Given the description of an element on the screen output the (x, y) to click on. 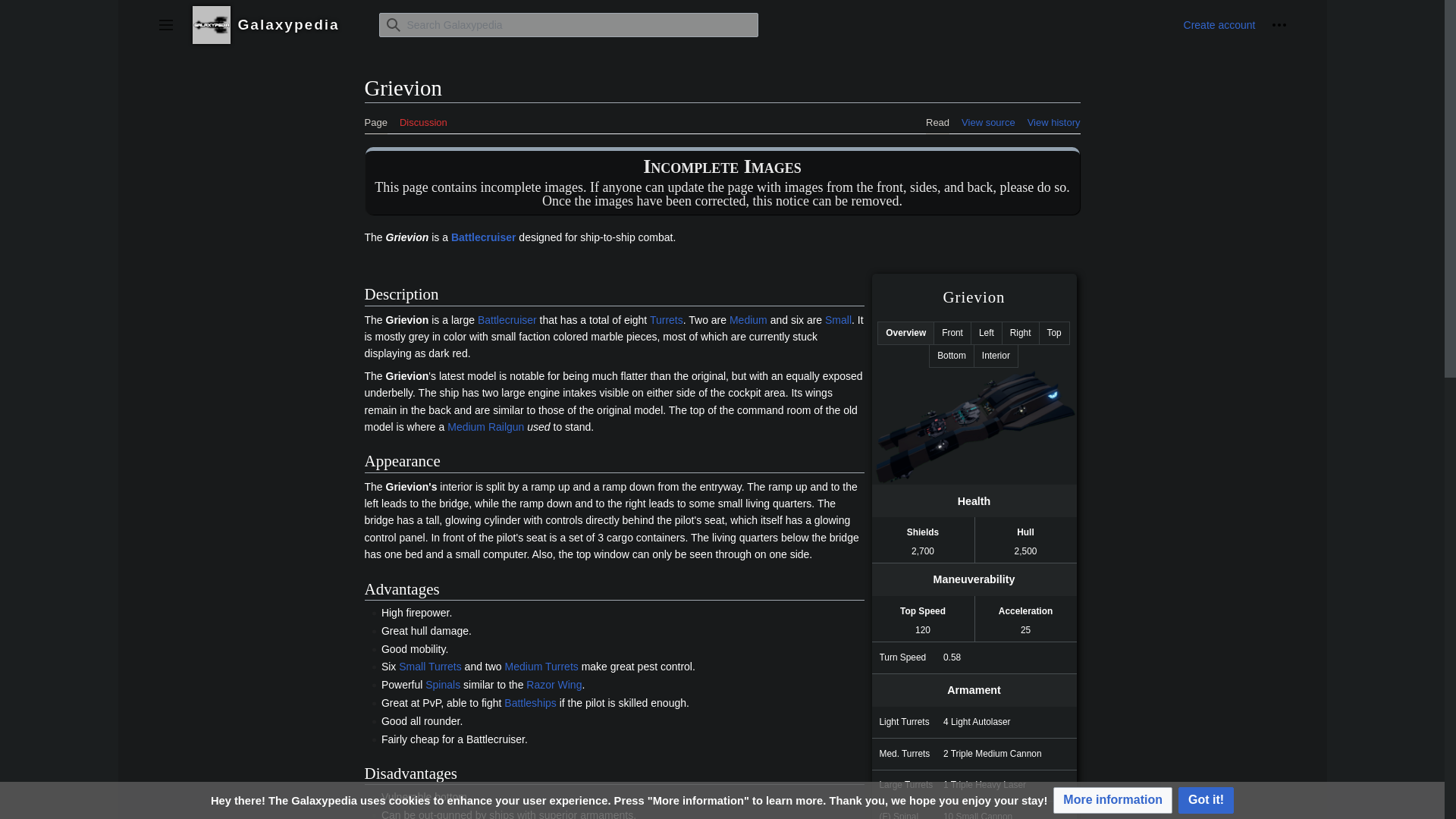
Battlecruiser (483, 236)
Main menu (165, 24)
Discussion (422, 118)
Create account (1219, 24)
Search (392, 24)
Search (392, 24)
Search (392, 24)
Search the pages for this text (392, 24)
Galaxypedia (276, 24)
View history (1053, 118)
More options (1279, 24)
View source (987, 118)
Go (392, 24)
Go (392, 24)
